Given the description of an element on the screen output the (x, y) to click on. 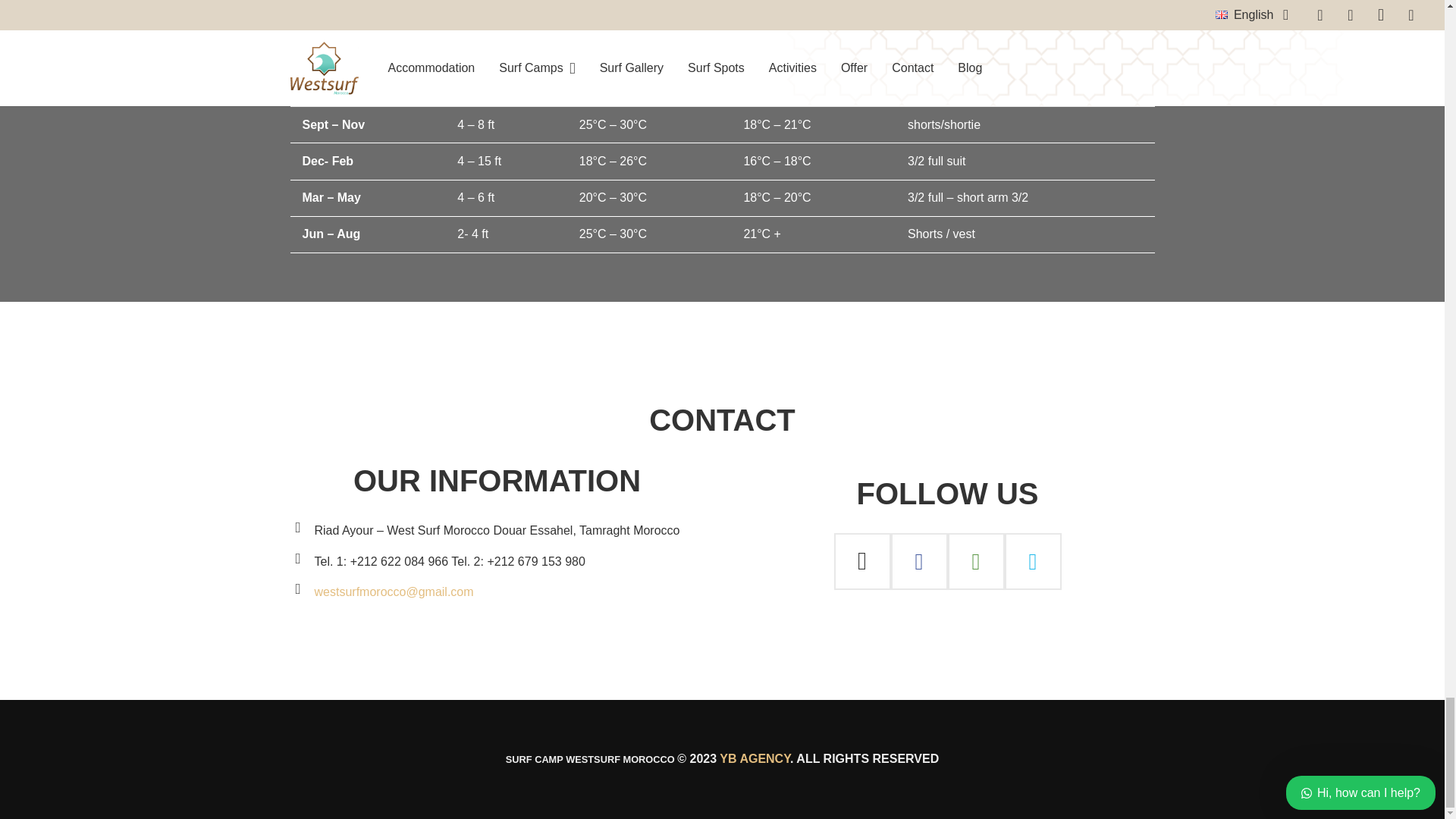
Facebook (918, 561)
Tripadvisor (975, 561)
YB AGENCY (754, 758)
Instagram (862, 561)
Vimeo (1032, 561)
